Given the description of an element on the screen output the (x, y) to click on. 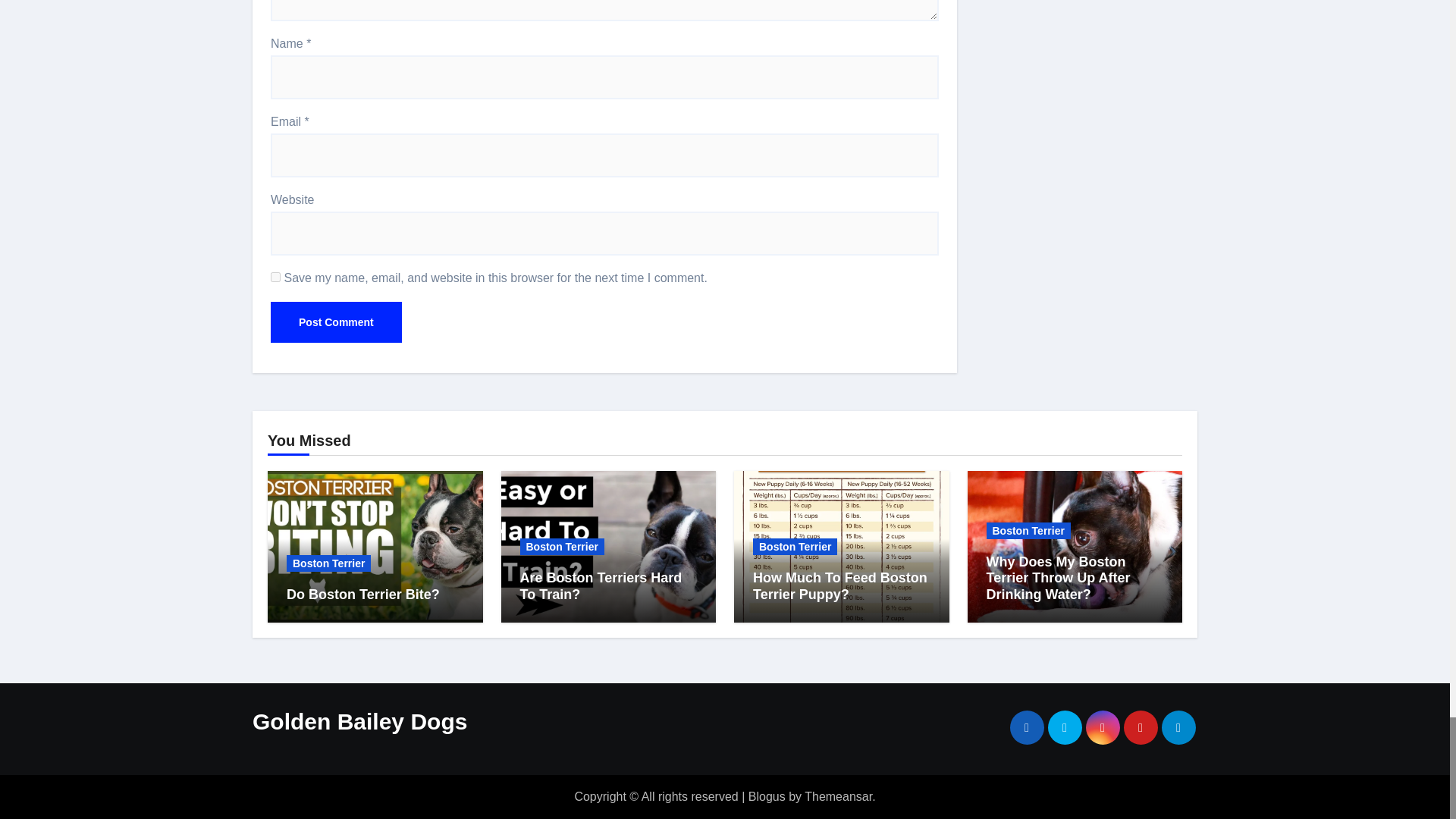
yes (275, 276)
Post Comment (335, 322)
